Given the description of an element on the screen output the (x, y) to click on. 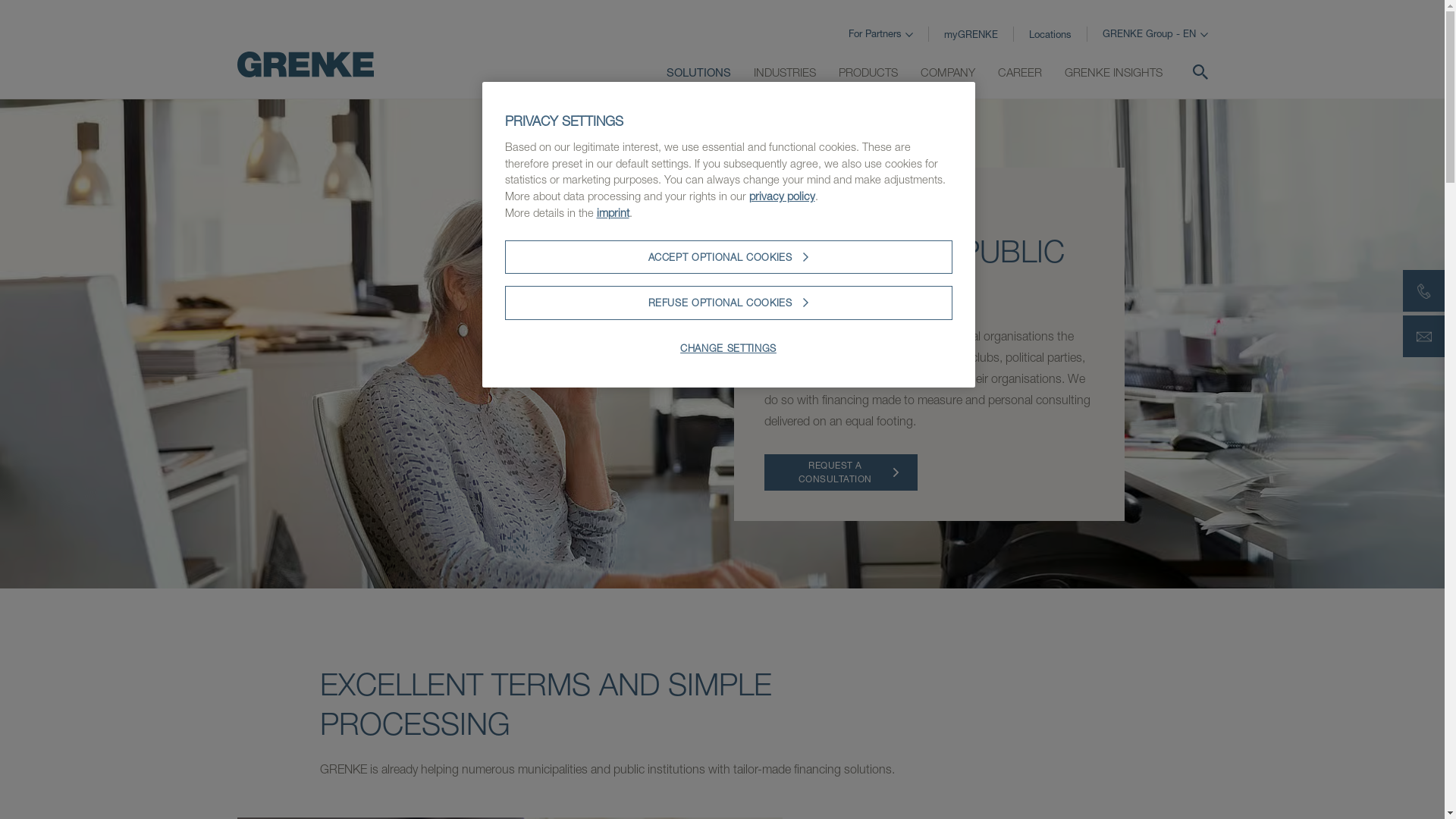
COMPANY Element type: text (947, 72)
GRENKE INSIGHTS Element type: text (1113, 72)
Locations Element type: text (1049, 33)
SOLUTIONS Element type: text (697, 72)
myGRENKE Element type: text (970, 33)
PRODUCTS Element type: text (867, 72)
INDUSTRIES Element type: text (784, 72)
REQUEST A CONSULTATION Element type: text (841, 471)
CAREER Element type: text (1019, 72)
